Given the description of an element on the screen output the (x, y) to click on. 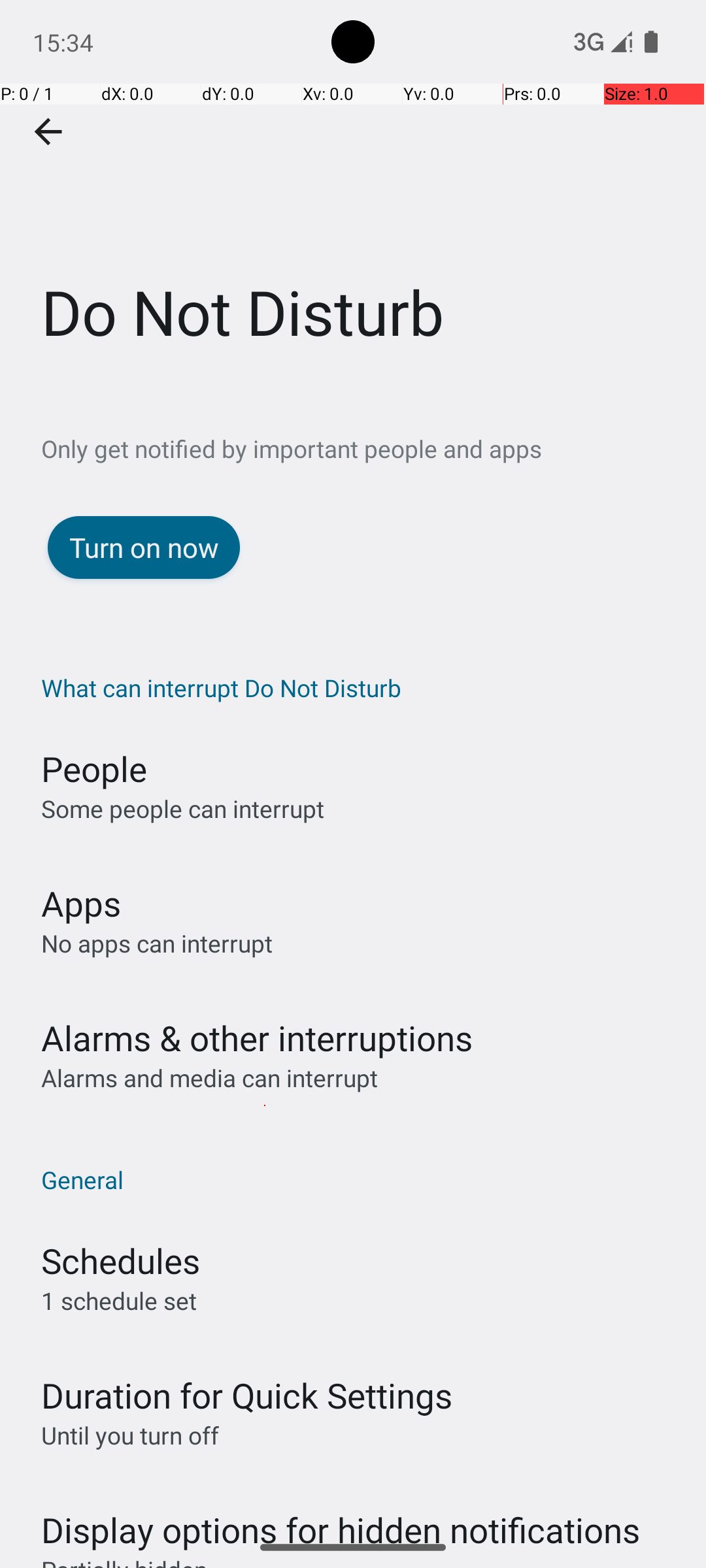
Only get notified by important people and apps Element type: android.widget.TextView (373, 448)
Turn on now Element type: android.widget.Button (143, 547)
What can interrupt Do Not Disturb Element type: android.widget.TextView (359, 687)
People Element type: android.widget.TextView (94, 768)
Some people can interrupt Element type: android.widget.TextView (182, 808)
No apps can interrupt Element type: android.widget.TextView (156, 942)
Alarms & other interruptions Element type: android.widget.TextView (256, 1037)
Alarms and media can interrupt Element type: android.widget.TextView (209, 1077)
Schedules Element type: android.widget.TextView (120, 1260)
1 schedule set Element type: android.widget.TextView (118, 1300)
Duration for Quick Settings Element type: android.widget.TextView (246, 1395)
Until you turn off Element type: android.widget.TextView (129, 1434)
Display options for hidden notifications Element type: android.widget.TextView (340, 1516)
